Given the description of an element on the screen output the (x, y) to click on. 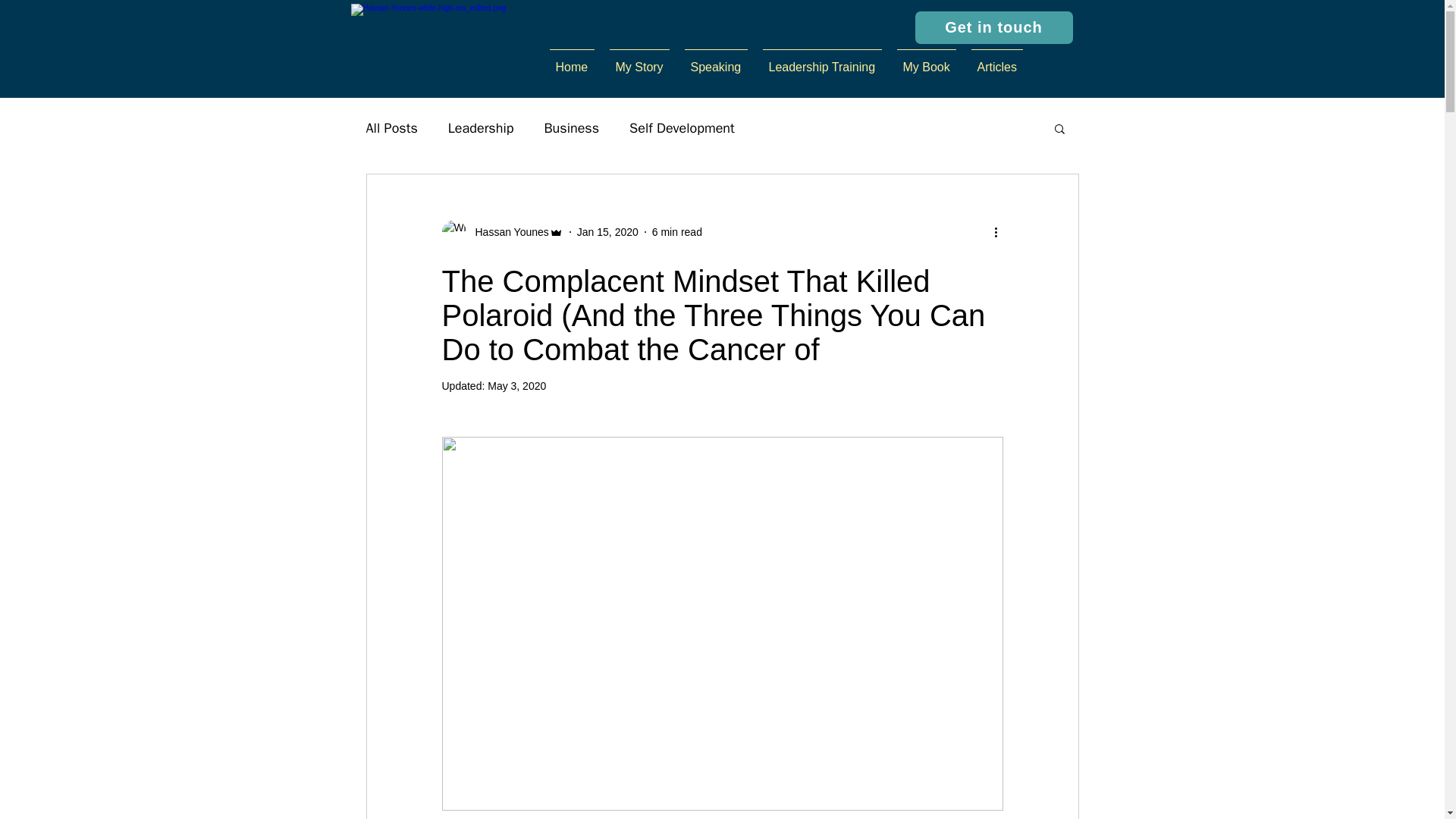
Articles (995, 60)
6 min read (676, 232)
Jan 15, 2020 (607, 232)
Business (570, 127)
My Book (925, 60)
May 3, 2020 (516, 386)
Speaking (715, 60)
Home (571, 60)
All Posts (390, 127)
My Story (639, 60)
Get in touch (992, 27)
Hassan Younes (506, 232)
Leadership Training (822, 60)
Self Development (681, 127)
Leadership (480, 127)
